Given the description of an element on the screen output the (x, y) to click on. 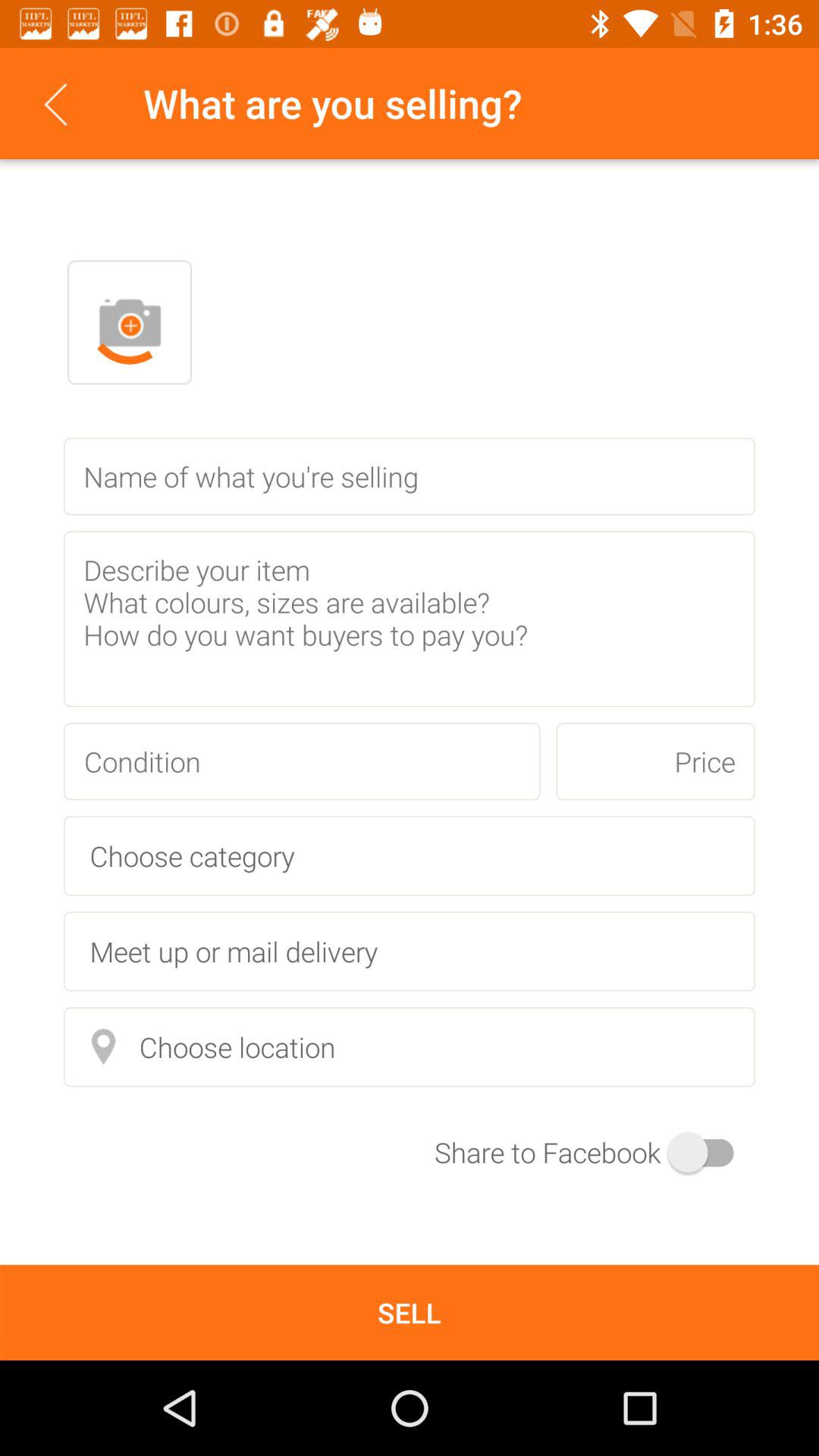
enter price amount (655, 761)
